Given the description of an element on the screen output the (x, y) to click on. 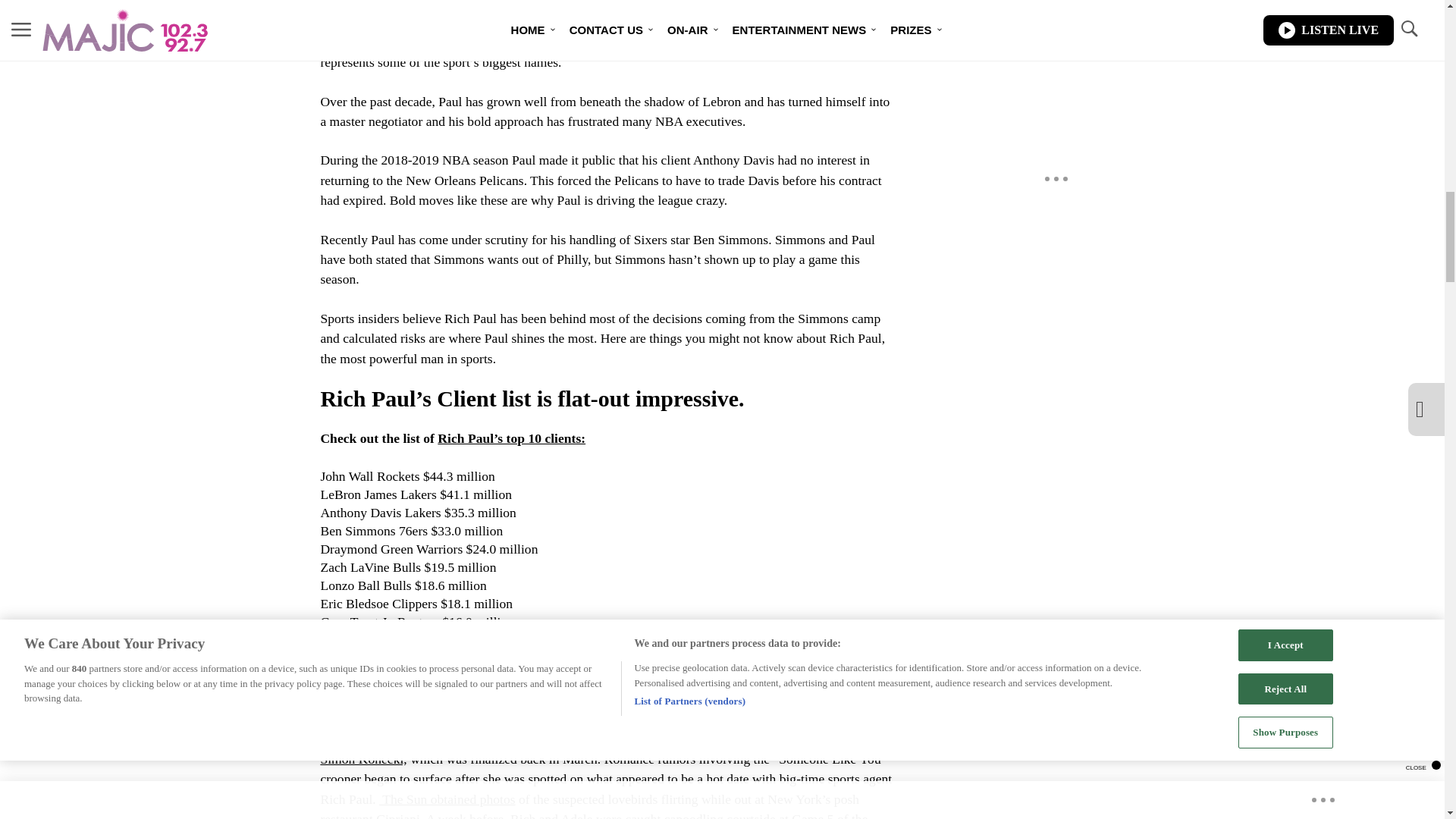
Adele (514, 738)
ex-husband Simon Konecki, (600, 748)
